Given the description of an element on the screen output the (x, y) to click on. 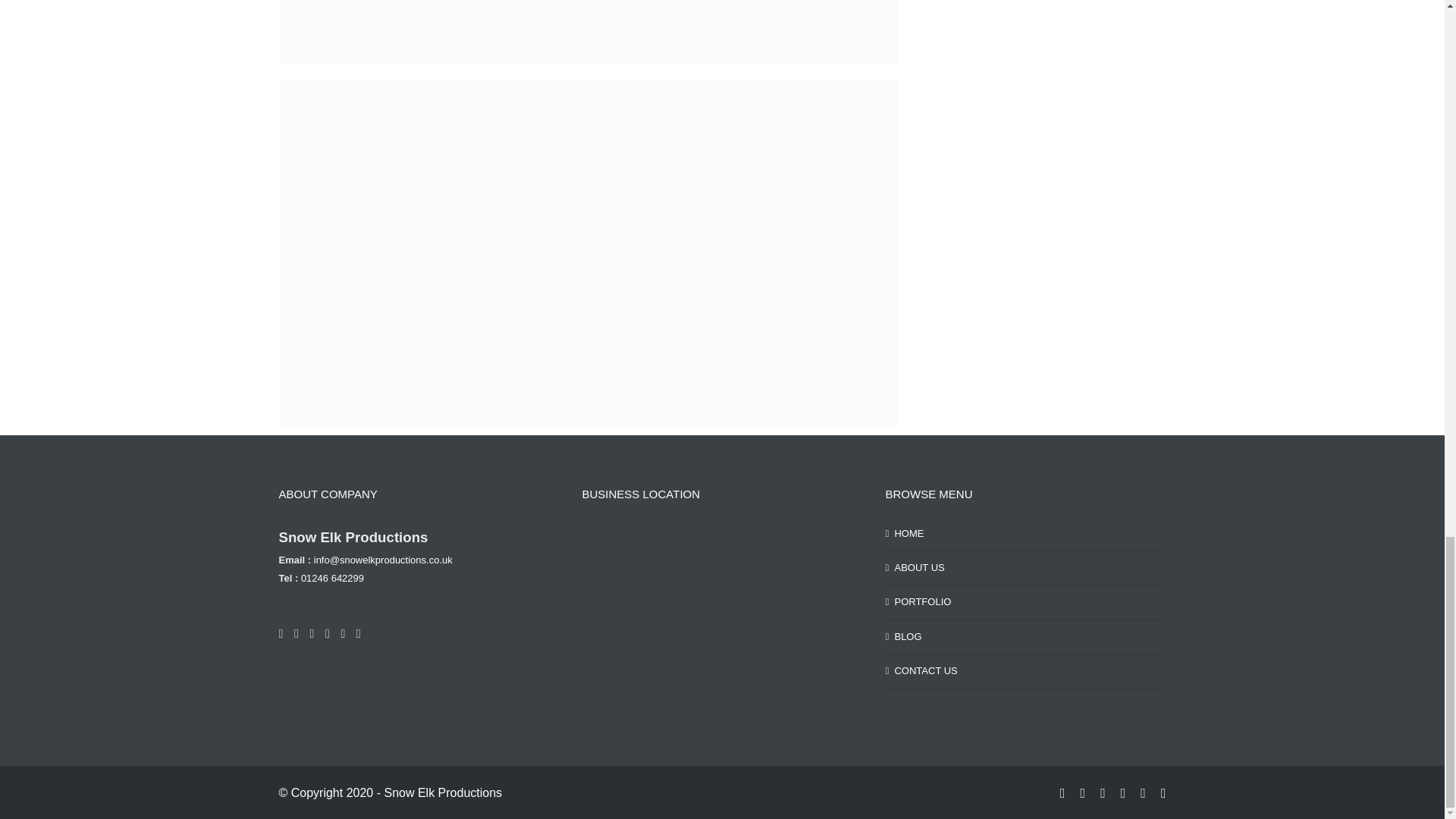
01246 642299 (332, 577)
